Given the description of an element on the screen output the (x, y) to click on. 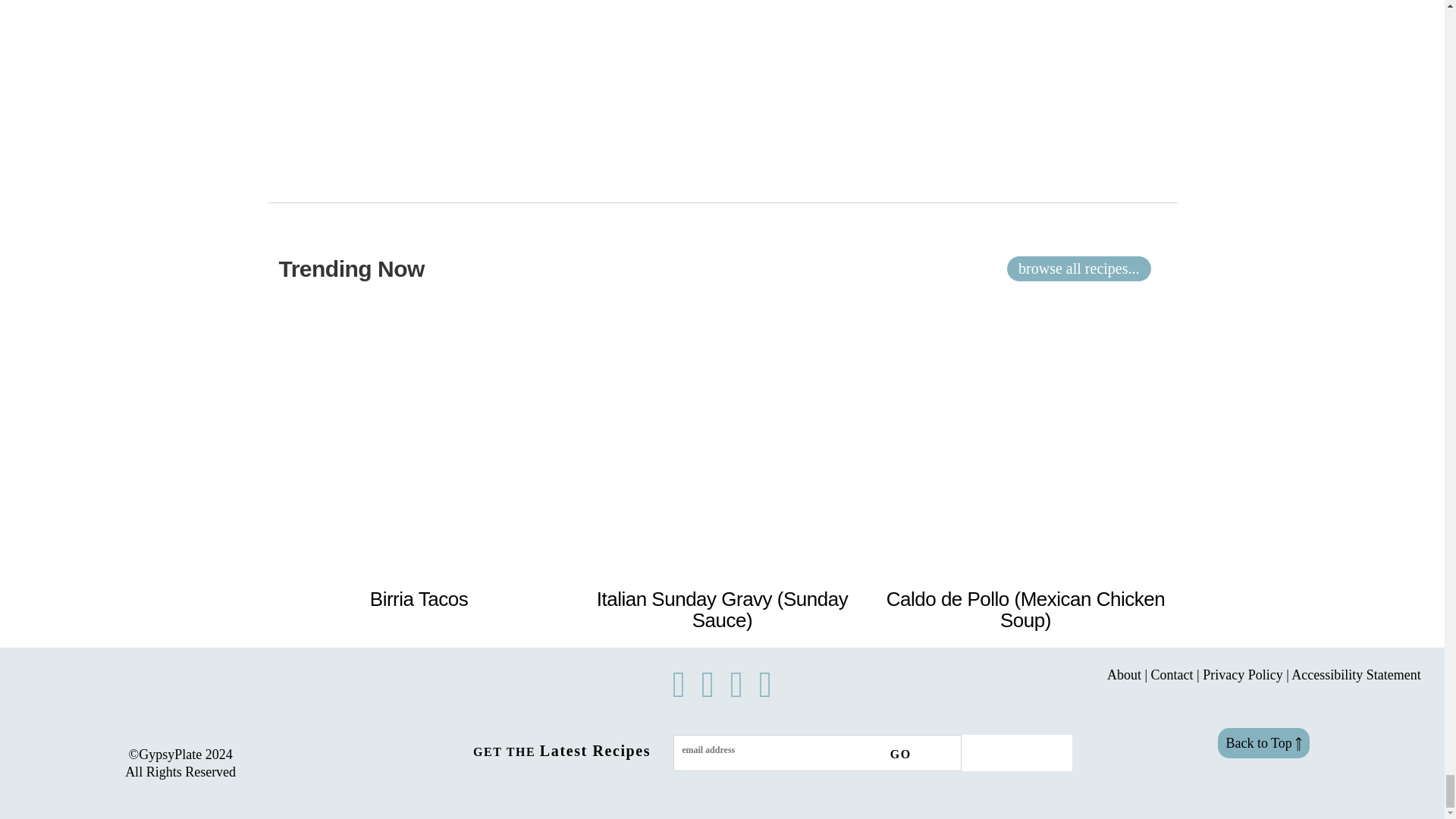
The 35 BEST Instant Pot Chicken Recipes (721, 610)
The 35 BEST Instant Pot Chicken Recipes (1025, 610)
GO (893, 753)
The 35 BEST Instant Pot Chicken Recipes (418, 599)
